Given the description of an element on the screen output the (x, y) to click on. 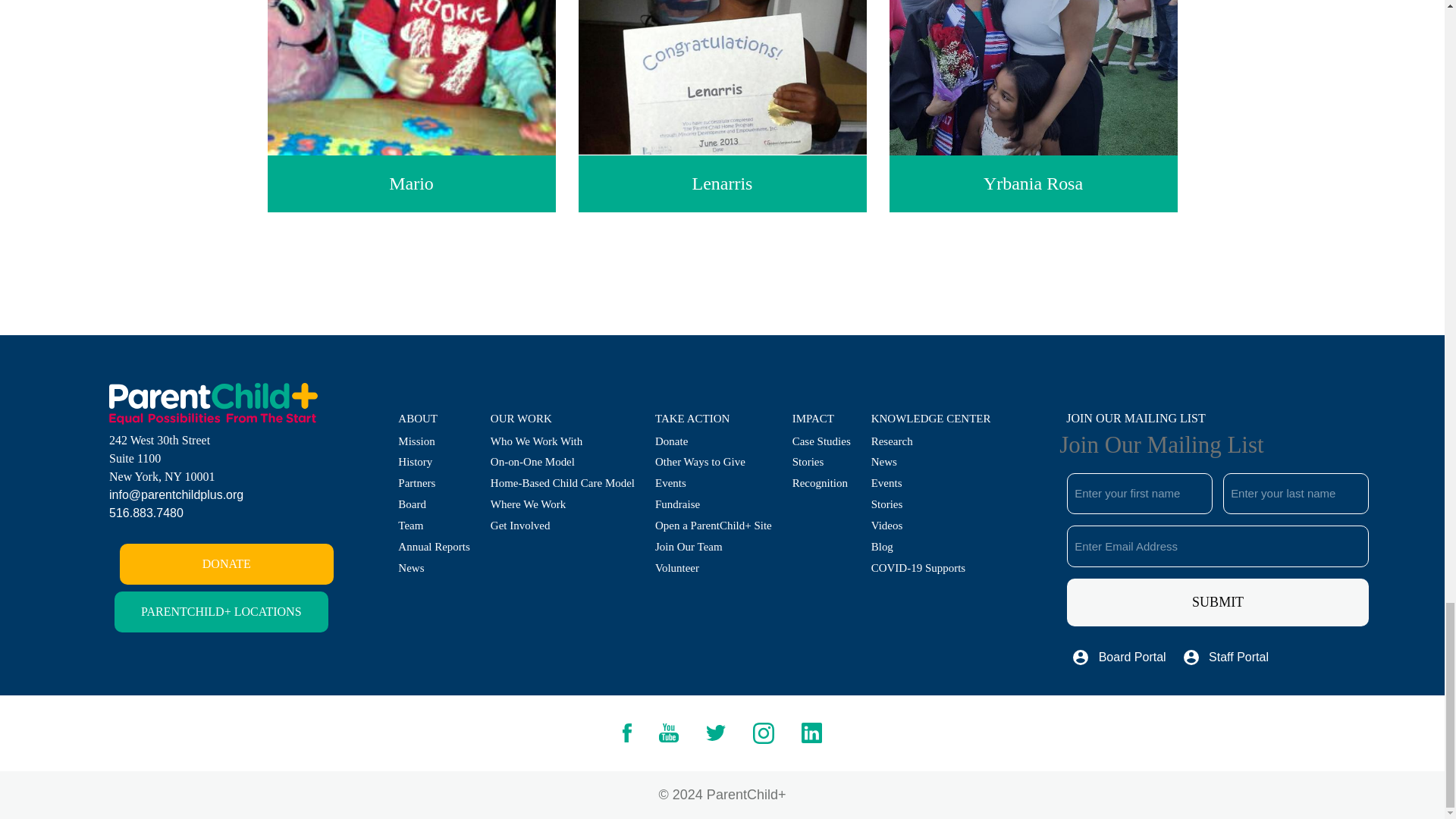
Submit (1217, 602)
